Given the description of an element on the screen output the (x, y) to click on. 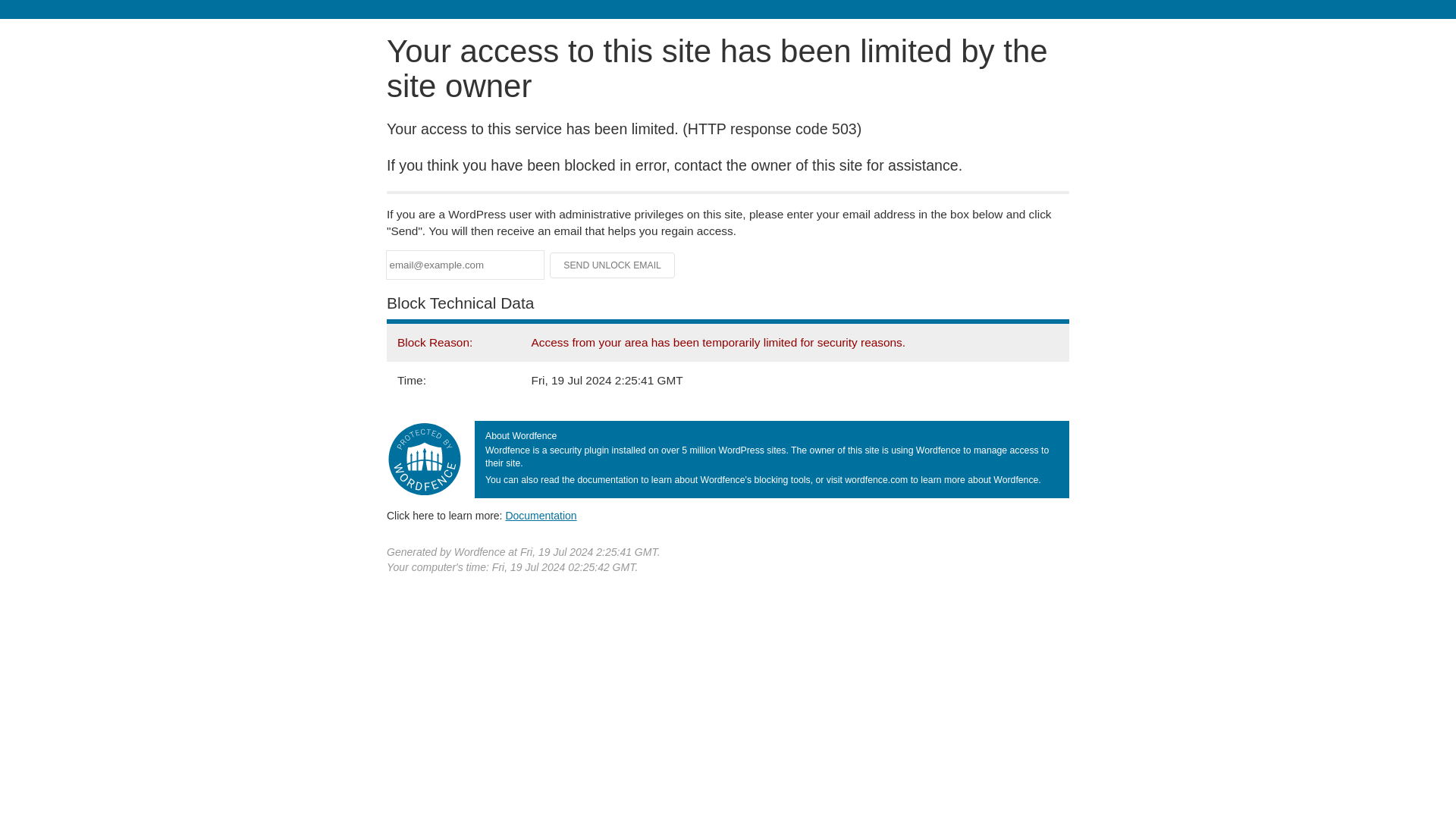
Send Unlock Email (612, 265)
Documentation (540, 515)
Send Unlock Email (612, 265)
